Given the description of an element on the screen output the (x, y) to click on. 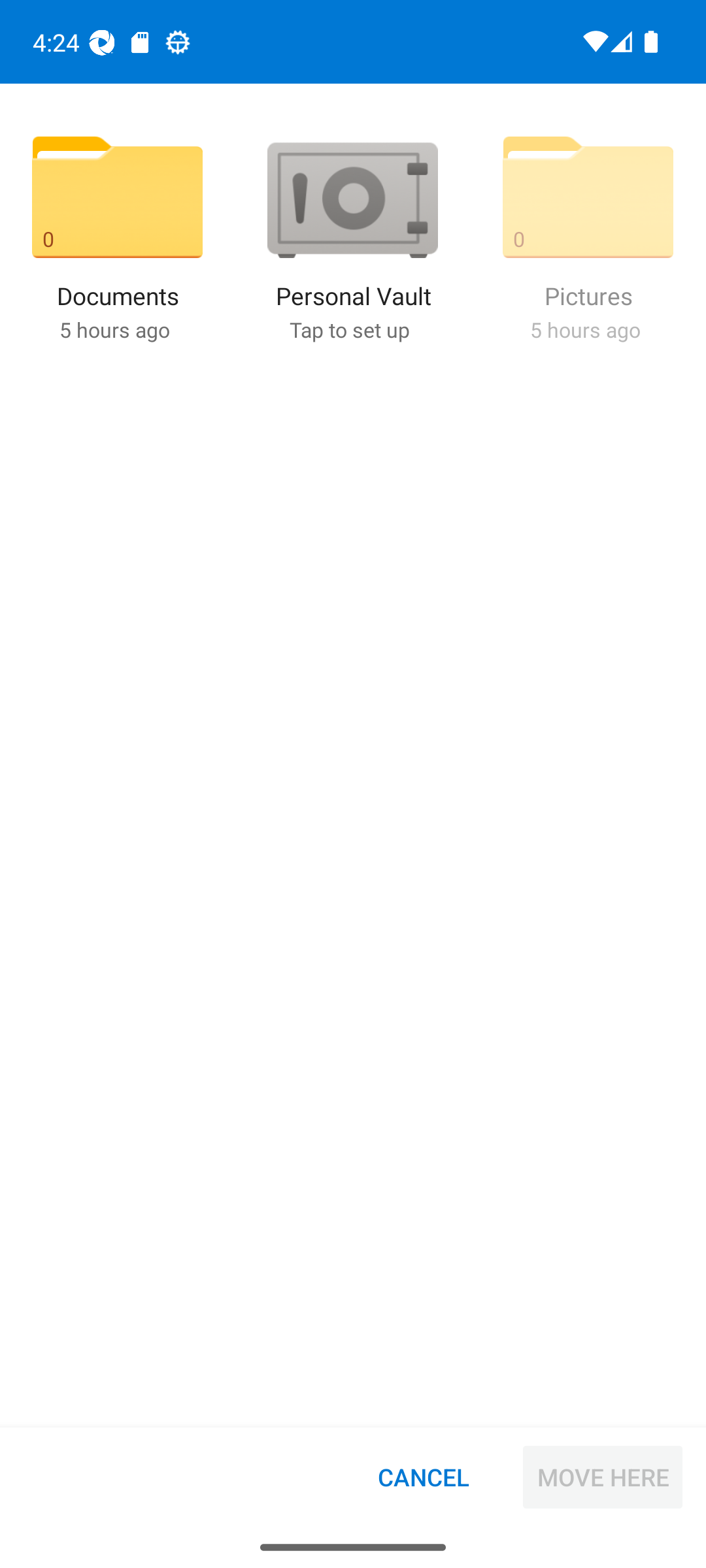
Folder Folder 0 0 items Documents 5 hours ago (117, 237)
Personal Vault Tap to set up (352, 237)
Folder Folder 0 0 items Pictures 5 hours ago (587, 237)
5 hours ago (113, 329)
Tap to set up (348, 329)
5 hours ago (584, 329)
CANCEL (423, 1476)
MOVE HERE (602, 1476)
